Given the description of an element on the screen output the (x, y) to click on. 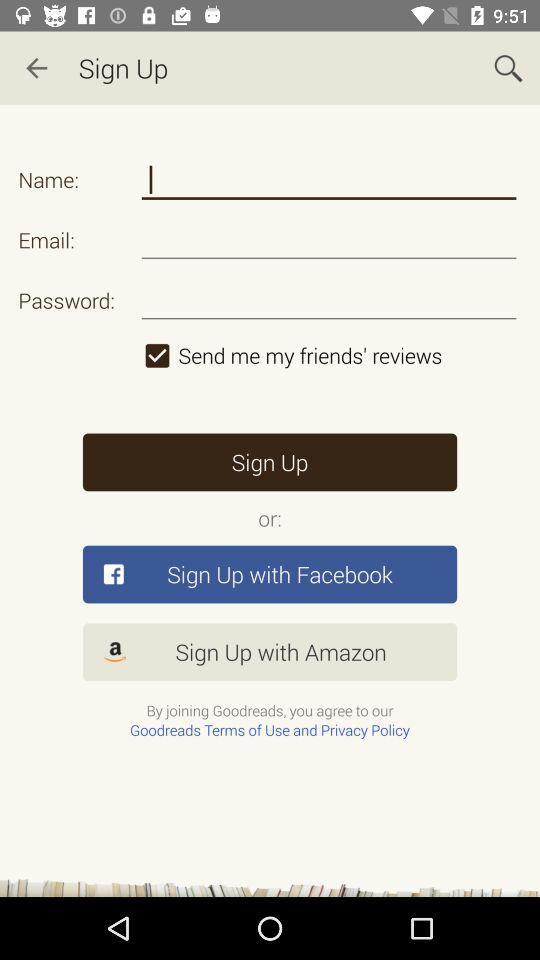
fill the word (328, 179)
